Given the description of an element on the screen output the (x, y) to click on. 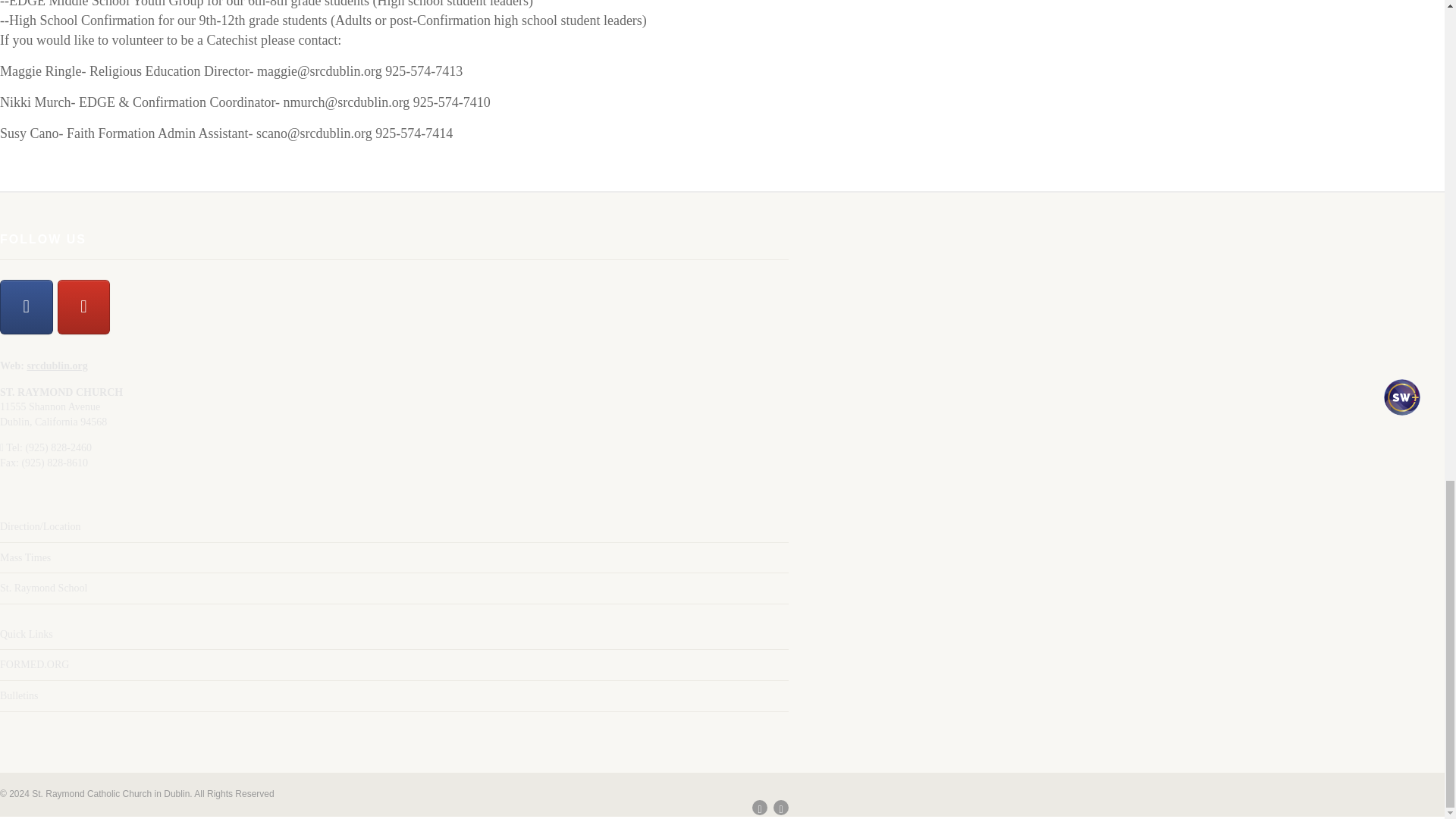
St. Raymond Catholic Church in Dublin on Facebook (26, 307)
YouTube (84, 307)
